Given the description of an element on the screen output the (x, y) to click on. 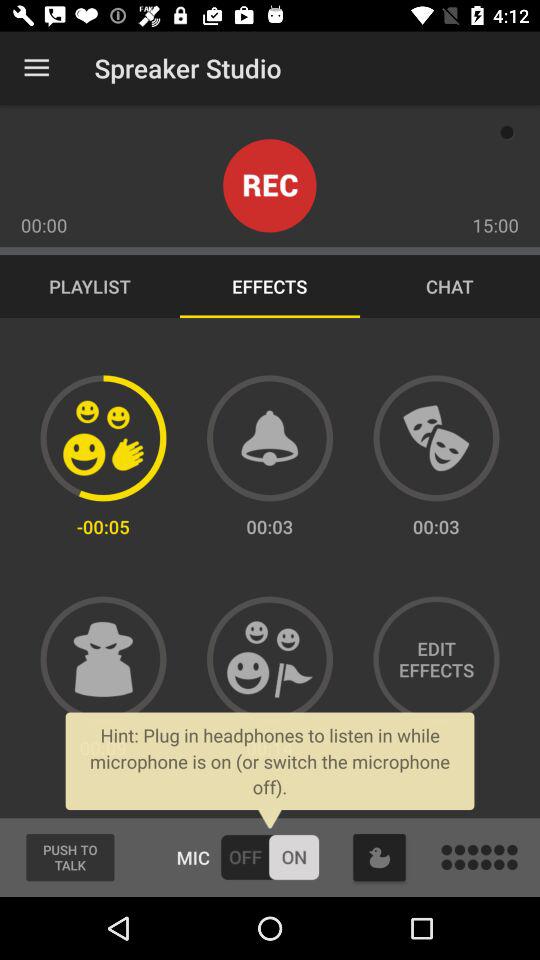
share audio (270, 659)
